Given the description of an element on the screen output the (x, y) to click on. 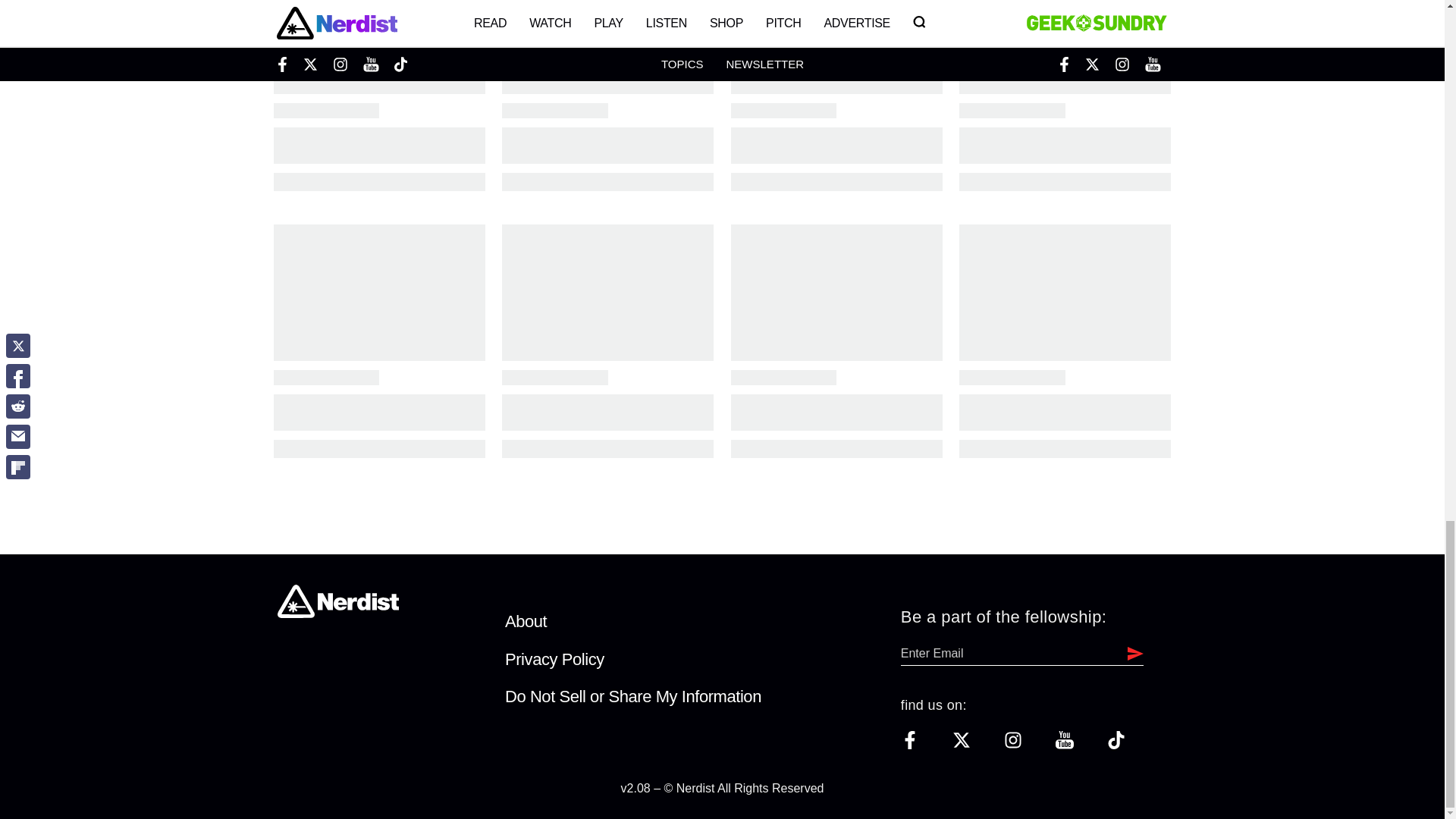
Sign Up (1131, 653)
